Given the description of an element on the screen output the (x, y) to click on. 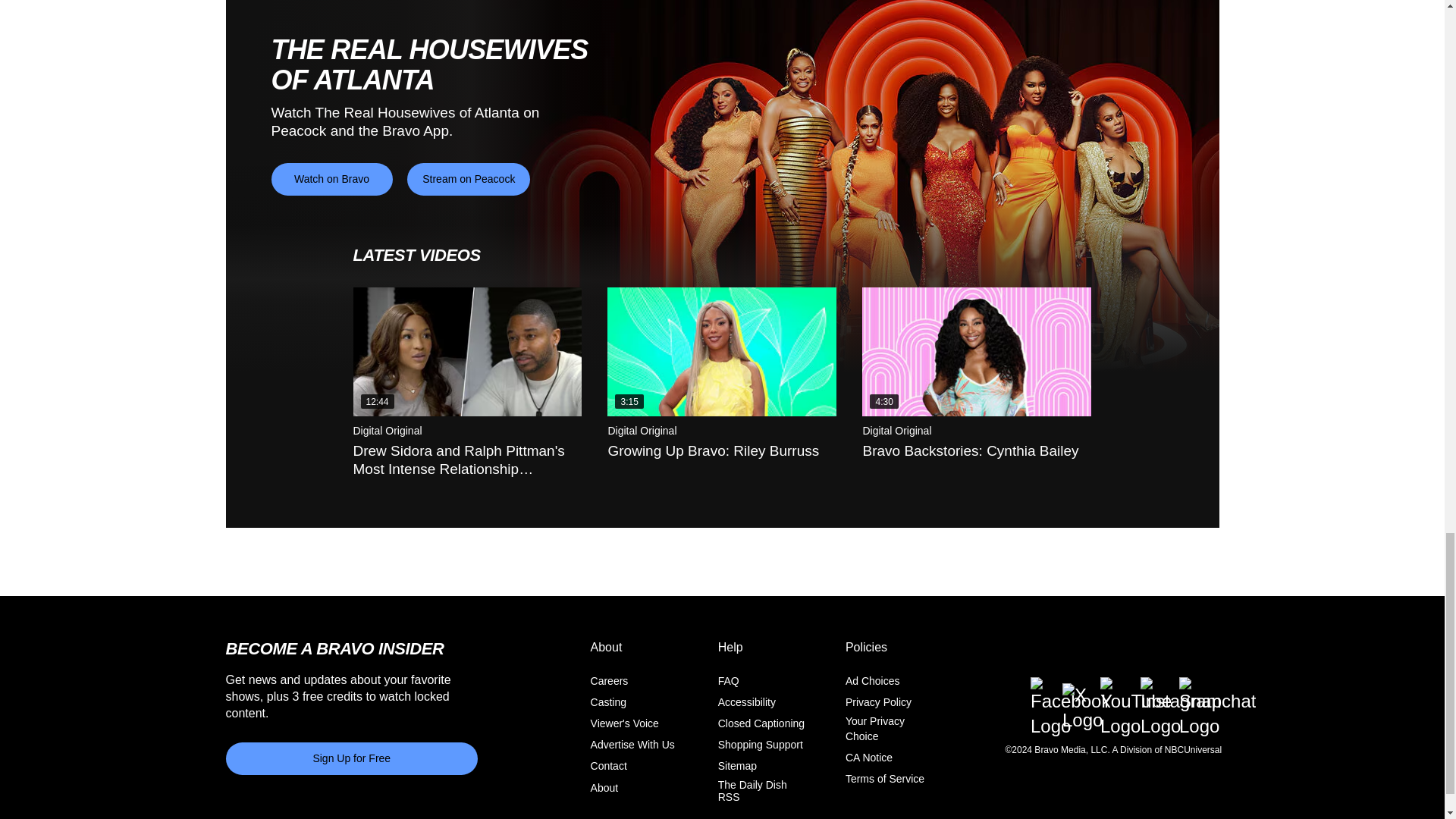
Advertise With Us (633, 745)
Bravo Backstories: Cynthia Bailey (975, 351)
Growing Up Bravo: Riley Burruss (721, 351)
